Given the description of an element on the screen output the (x, y) to click on. 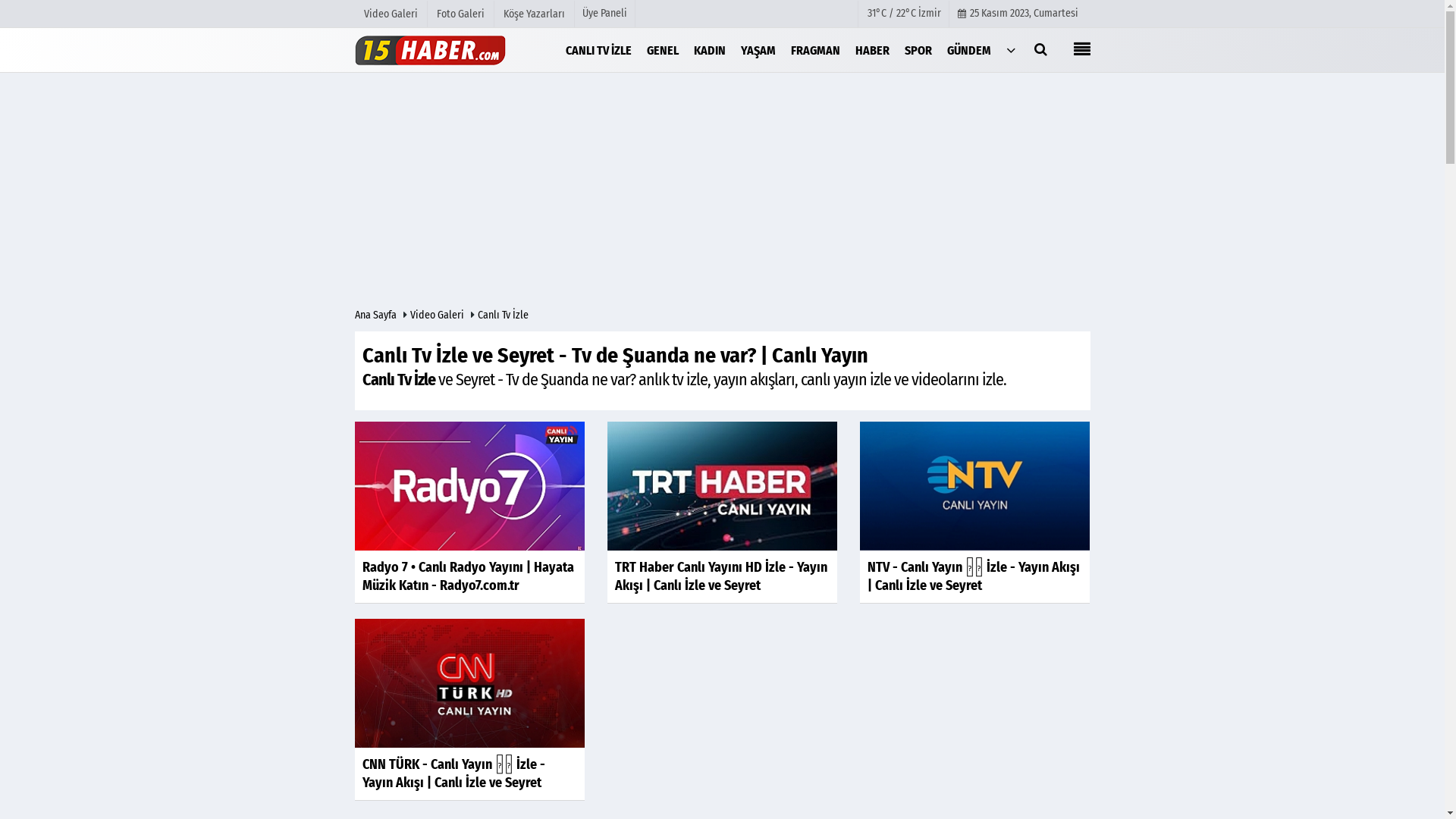
Ana Sayfa Element type: text (376, 314)
Foto Galeri Element type: text (460, 13)
Video Galeri Element type: text (437, 314)
Menu Element type: hover (1081, 50)
GENEL Element type: text (662, 49)
FRAGMAN Element type: text (815, 49)
HABER Element type: text (872, 49)
KADIN Element type: text (709, 49)
Advertisement Element type: hover (721, 193)
Video Galeri Element type: text (390, 13)
SPOR Element type: text (918, 49)
